Given the description of an element on the screen output the (x, y) to click on. 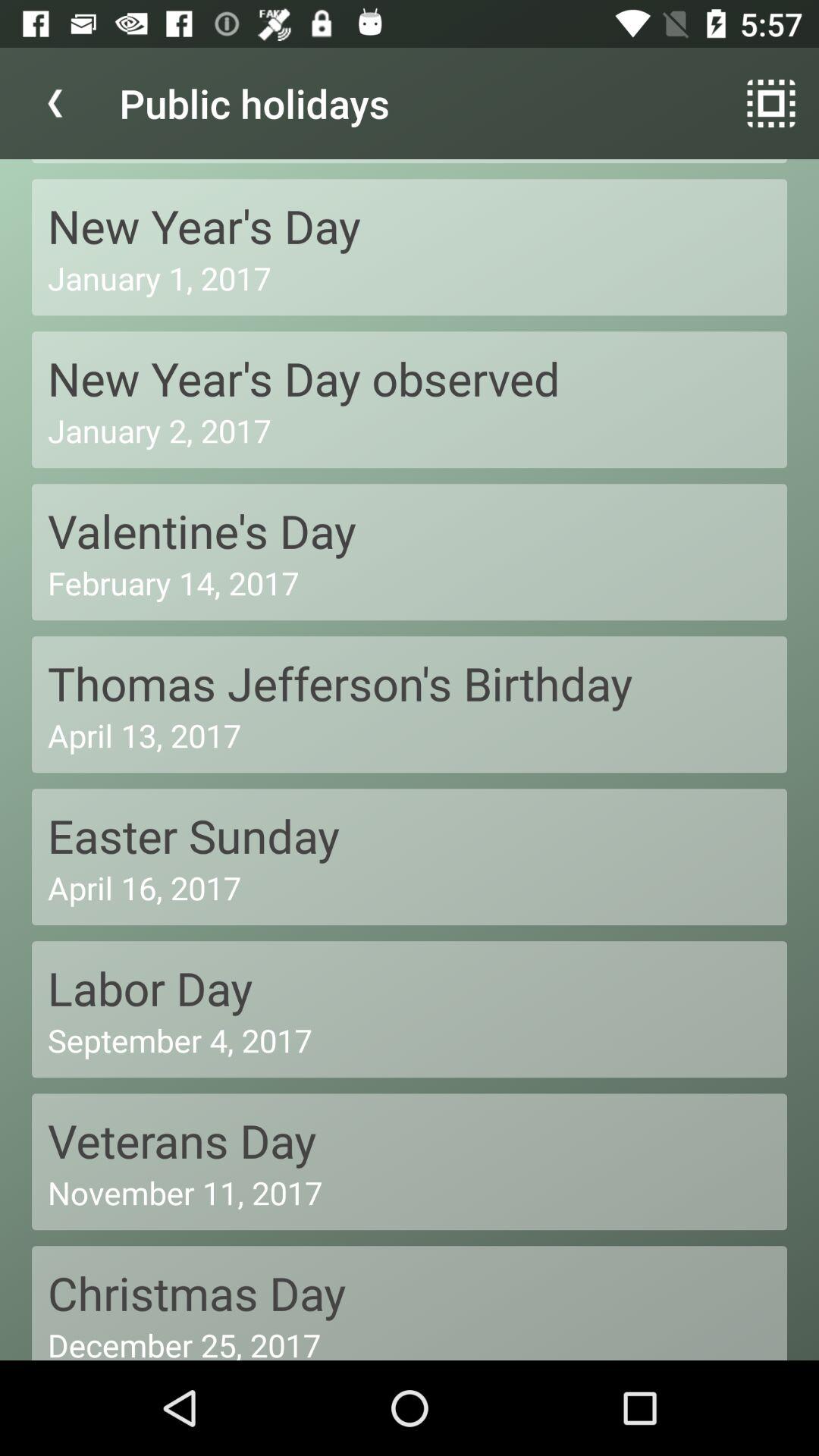
click item above the new year s item (55, 103)
